Given the description of an element on the screen output the (x, y) to click on. 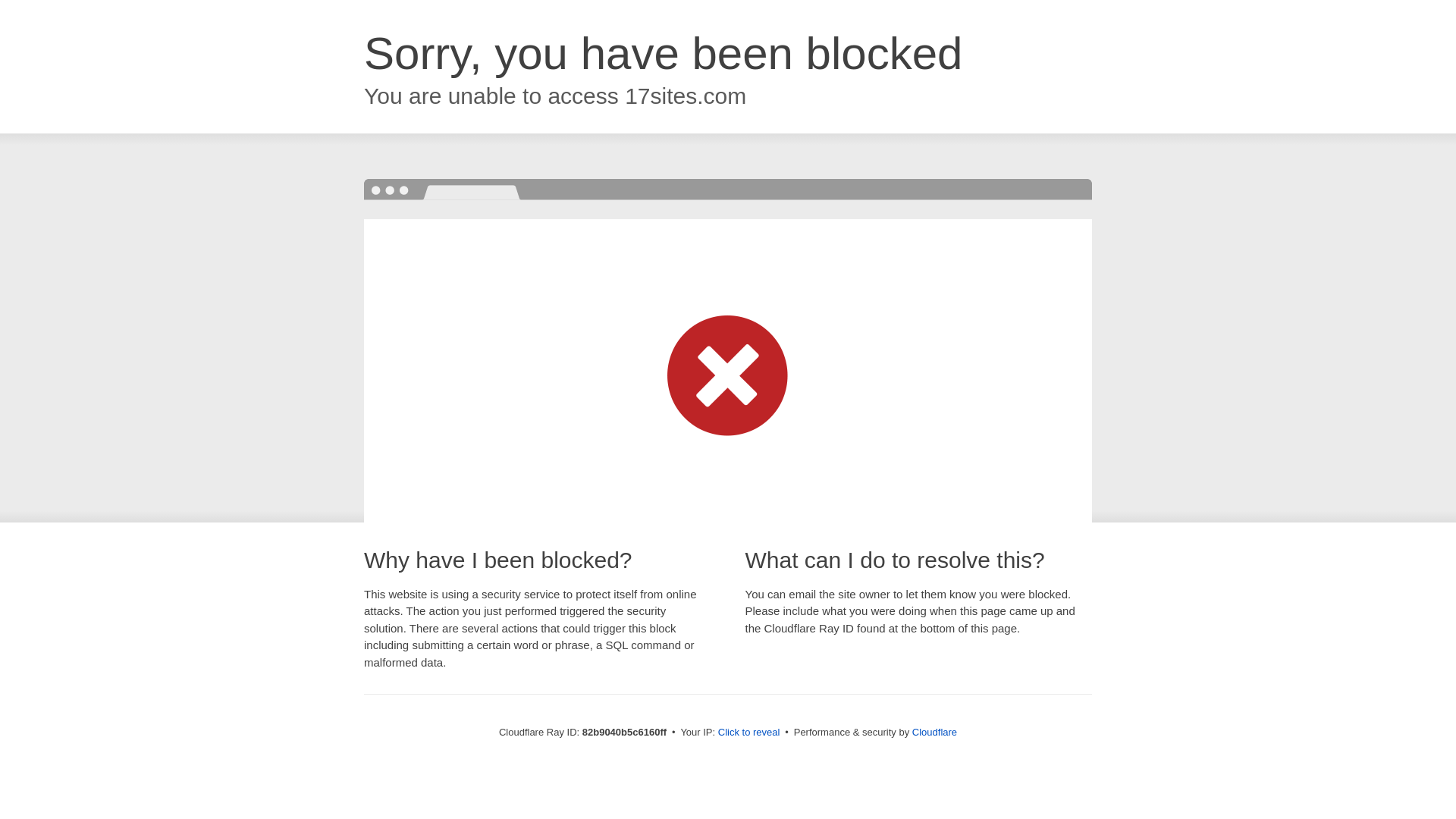
Click to reveal Element type: text (749, 732)
Cloudflare Element type: text (934, 731)
